Given the description of an element on the screen output the (x, y) to click on. 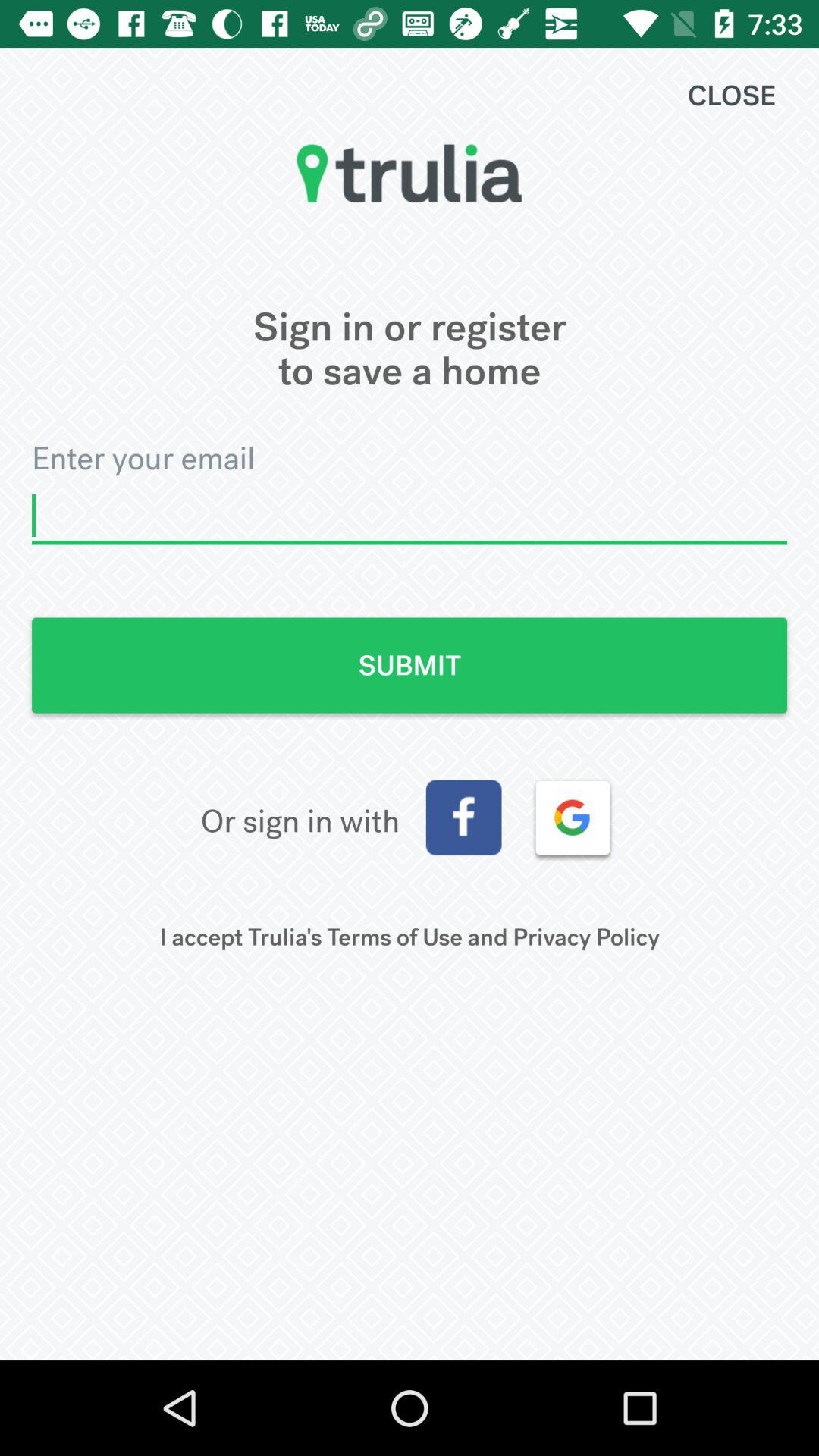
sign in with facebook account (463, 817)
